Given the description of an element on the screen output the (x, y) to click on. 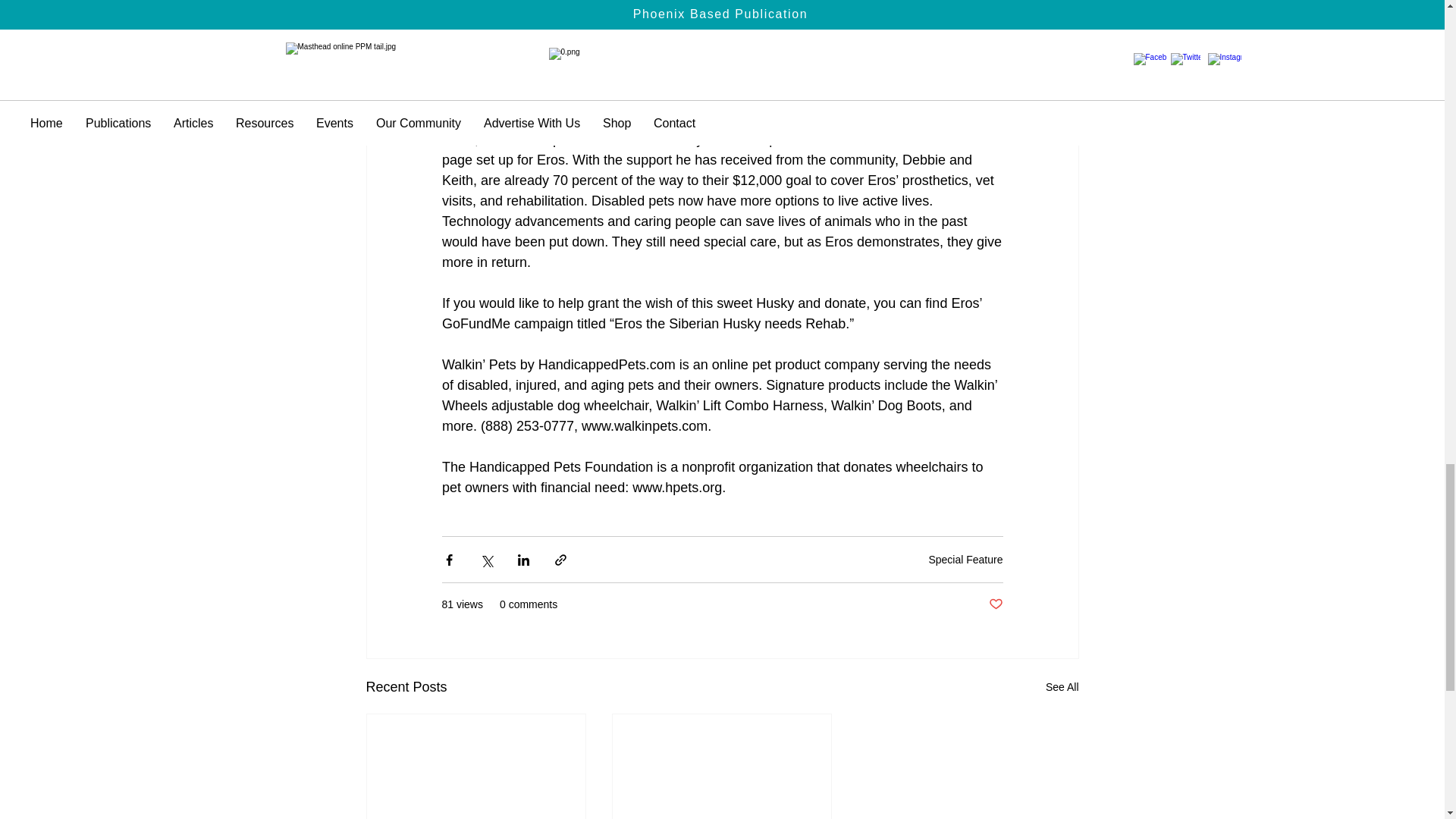
Special Feature (965, 559)
See All (1061, 687)
Post not marked as liked (995, 604)
